Given the description of an element on the screen output the (x, y) to click on. 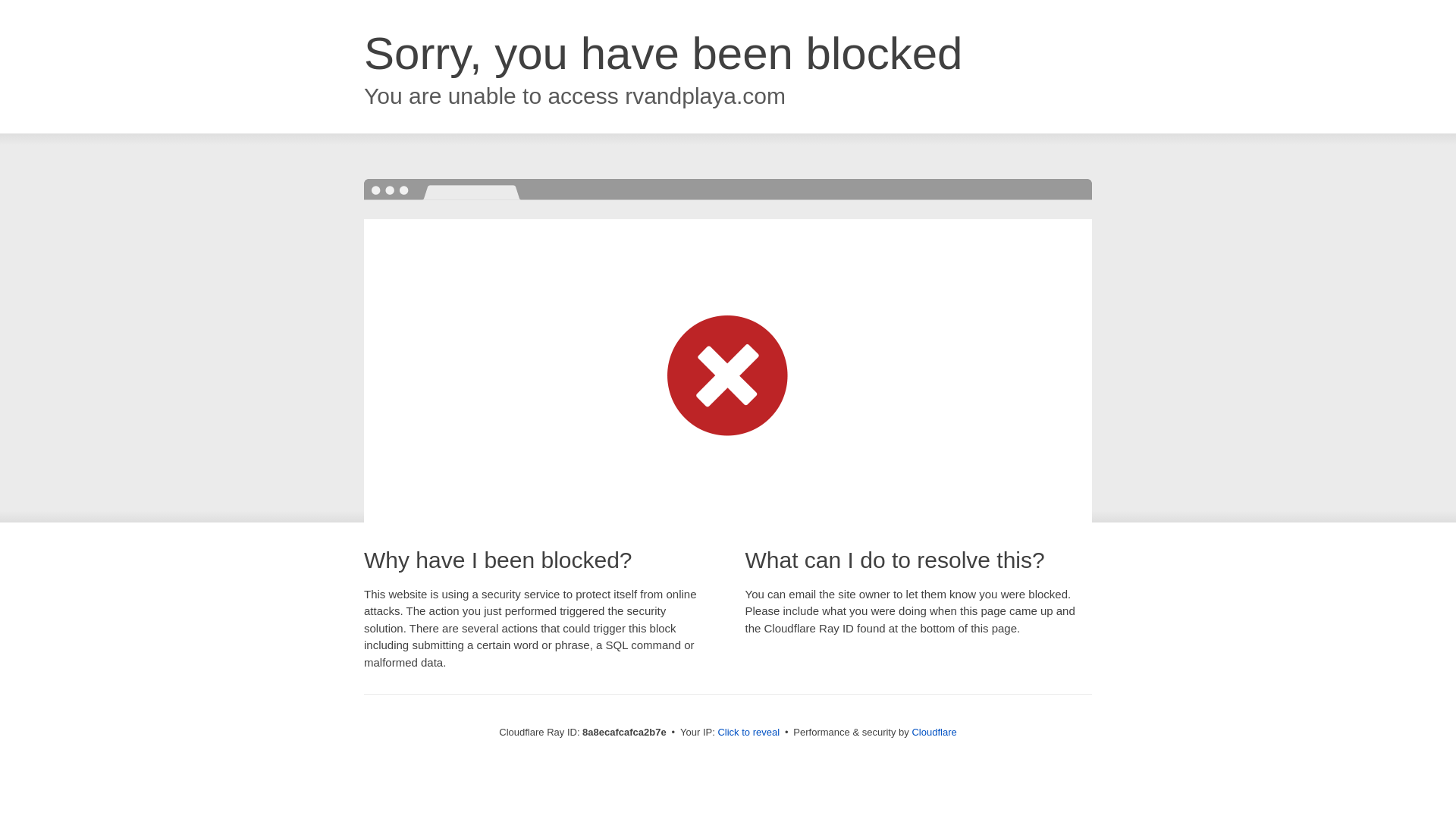
Click to reveal (747, 732)
Cloudflare (933, 731)
